Given the description of an element on the screen output the (x, y) to click on. 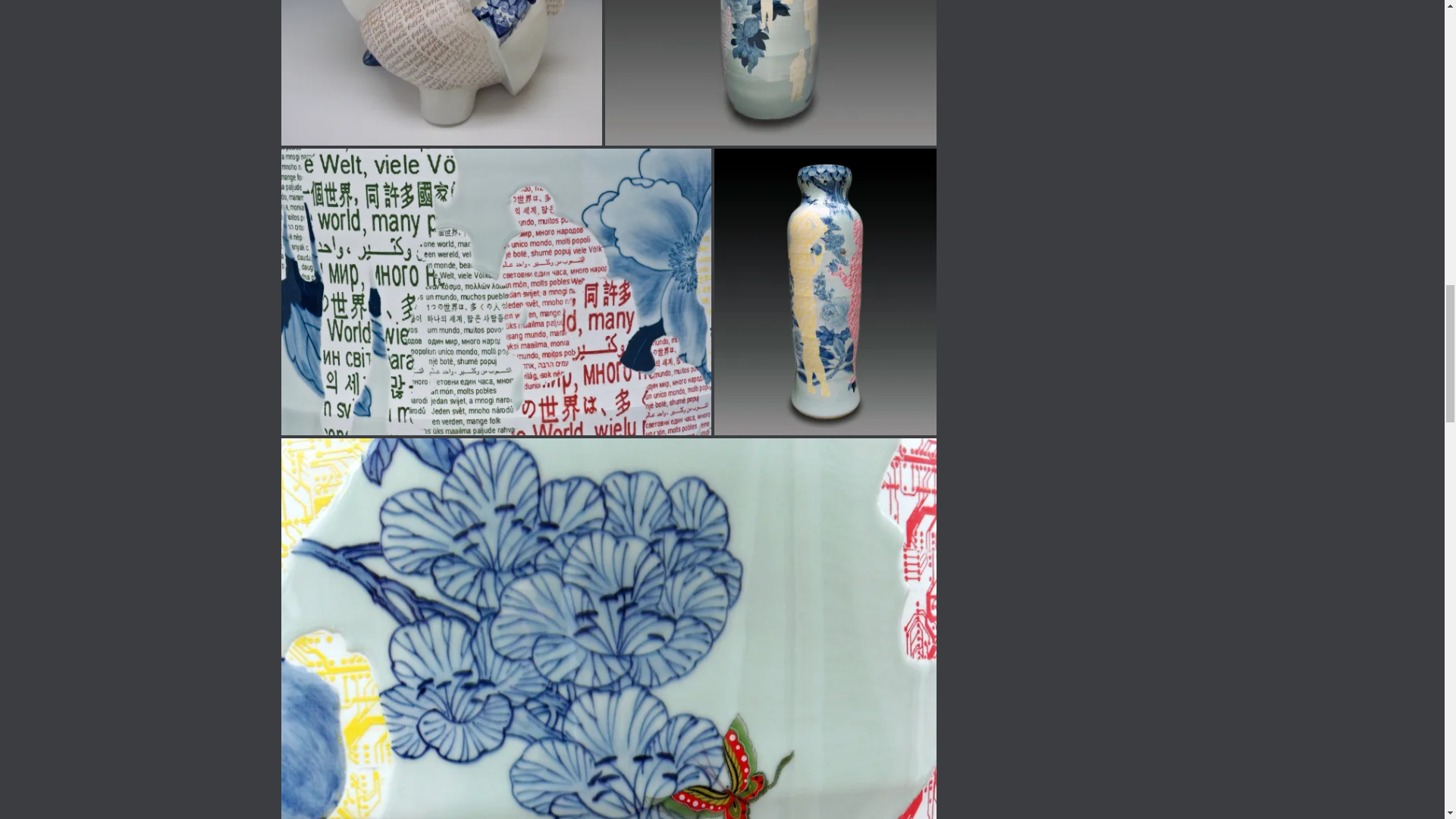
One World, Many Peoples no. 1 detail (495, 291)
One World, Many Peoples no. 1 (770, 72)
Fracture Unity (441, 72)
